Given the description of an element on the screen output the (x, y) to click on. 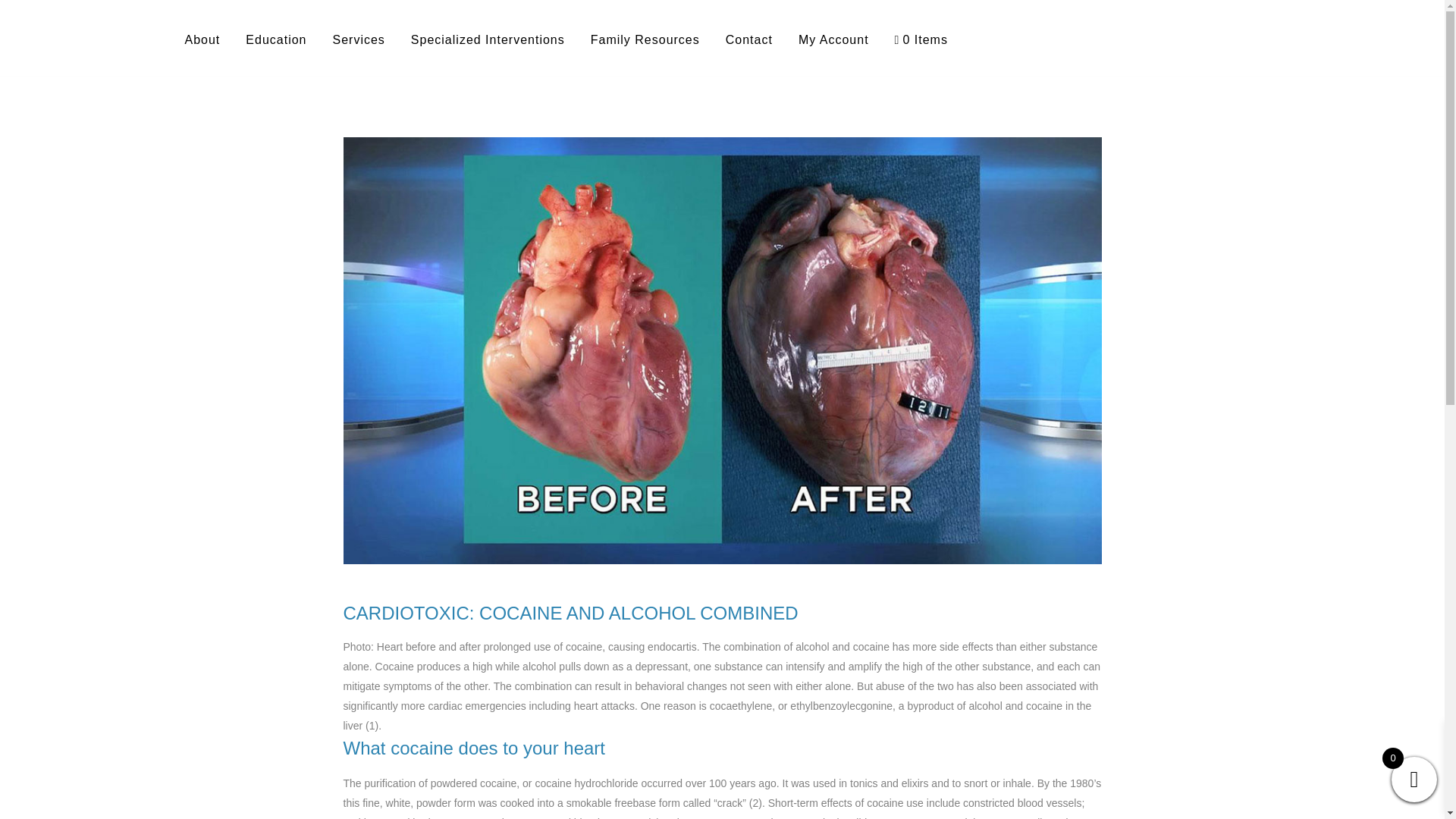
About (201, 39)
Start shopping (921, 39)
Services (357, 39)
Specialized Interventions (487, 39)
Family Resources (645, 39)
Education (275, 39)
